Given the description of an element on the screen output the (x, y) to click on. 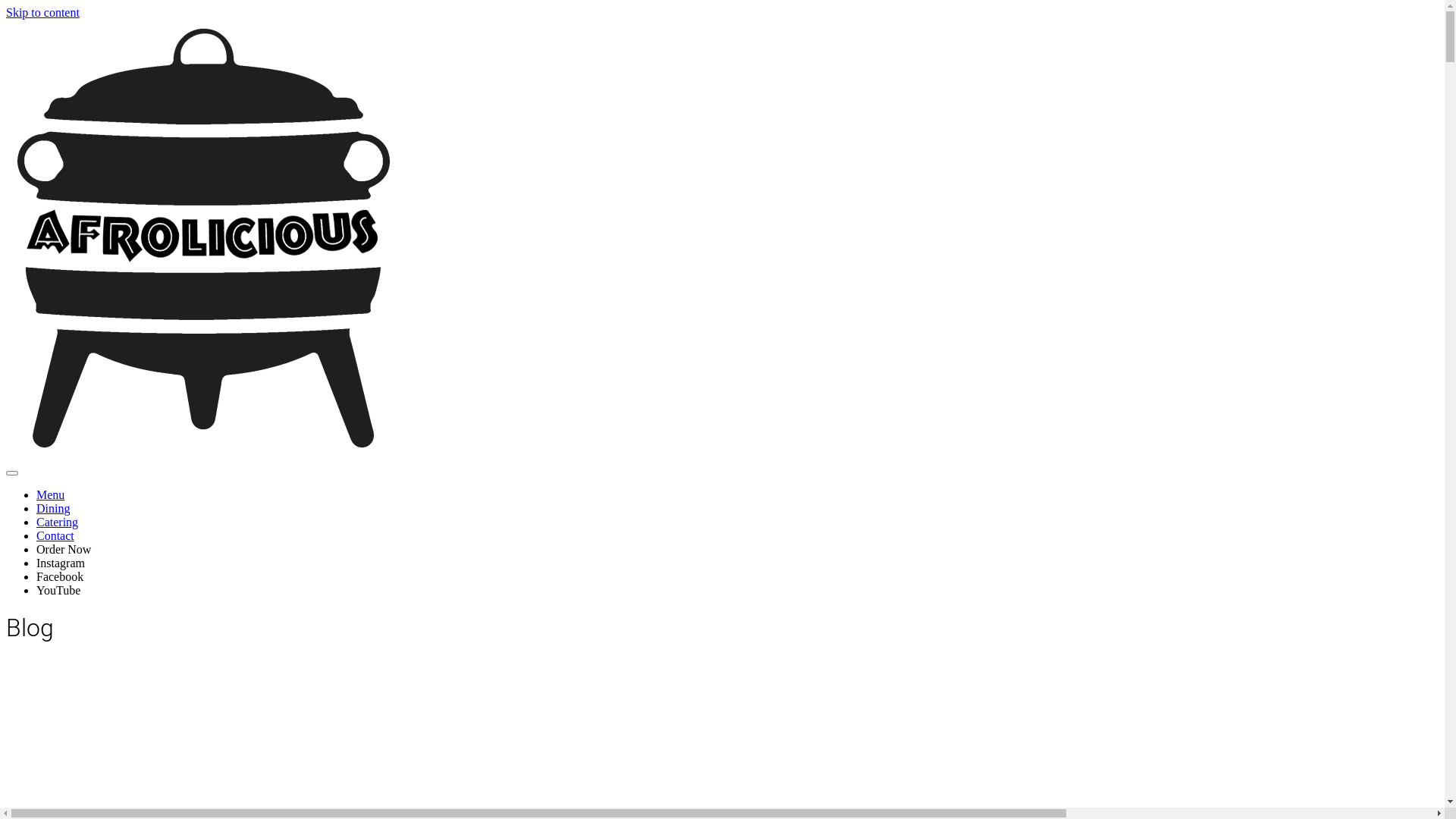
Contact Element type: text (55, 535)
Skip to content Element type: text (42, 12)
Menu Element type: text (50, 494)
Dining Element type: text (52, 508)
Catering Element type: text (57, 521)
